Given the description of an element on the screen output the (x, y) to click on. 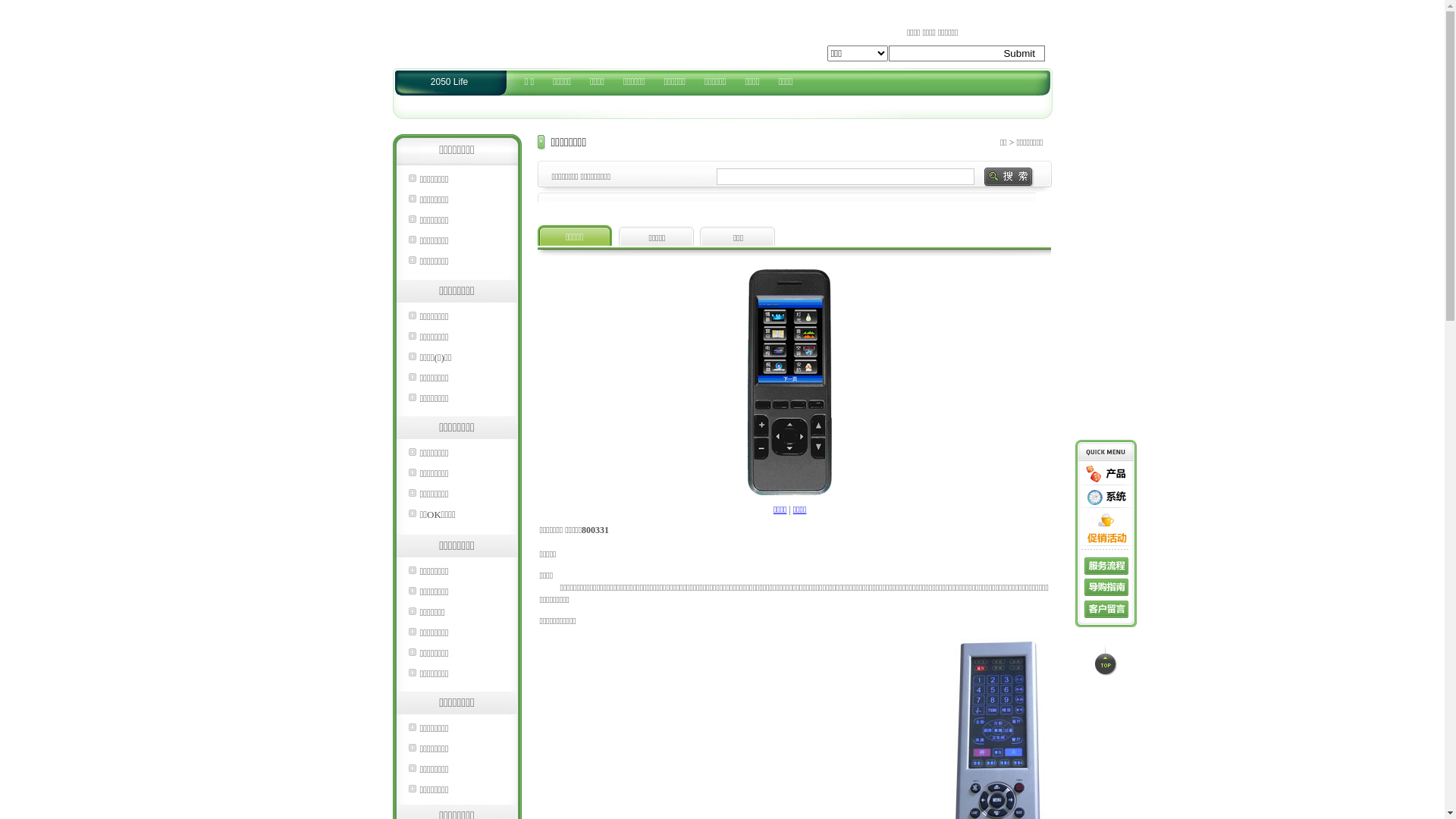
2050 Life Element type: text (448, 81)
